Given the description of an element on the screen output the (x, y) to click on. 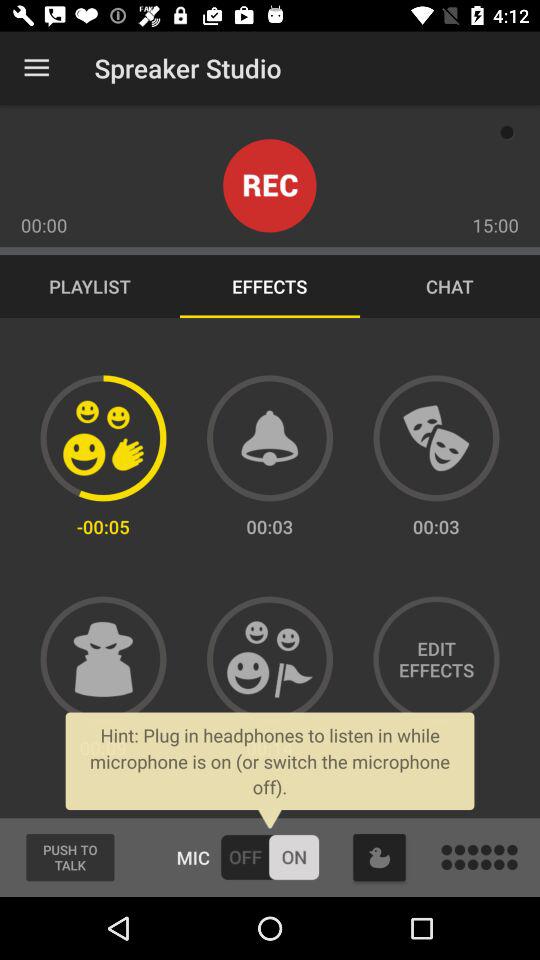
change effect in app (103, 438)
